Given the description of an element on the screen output the (x, y) to click on. 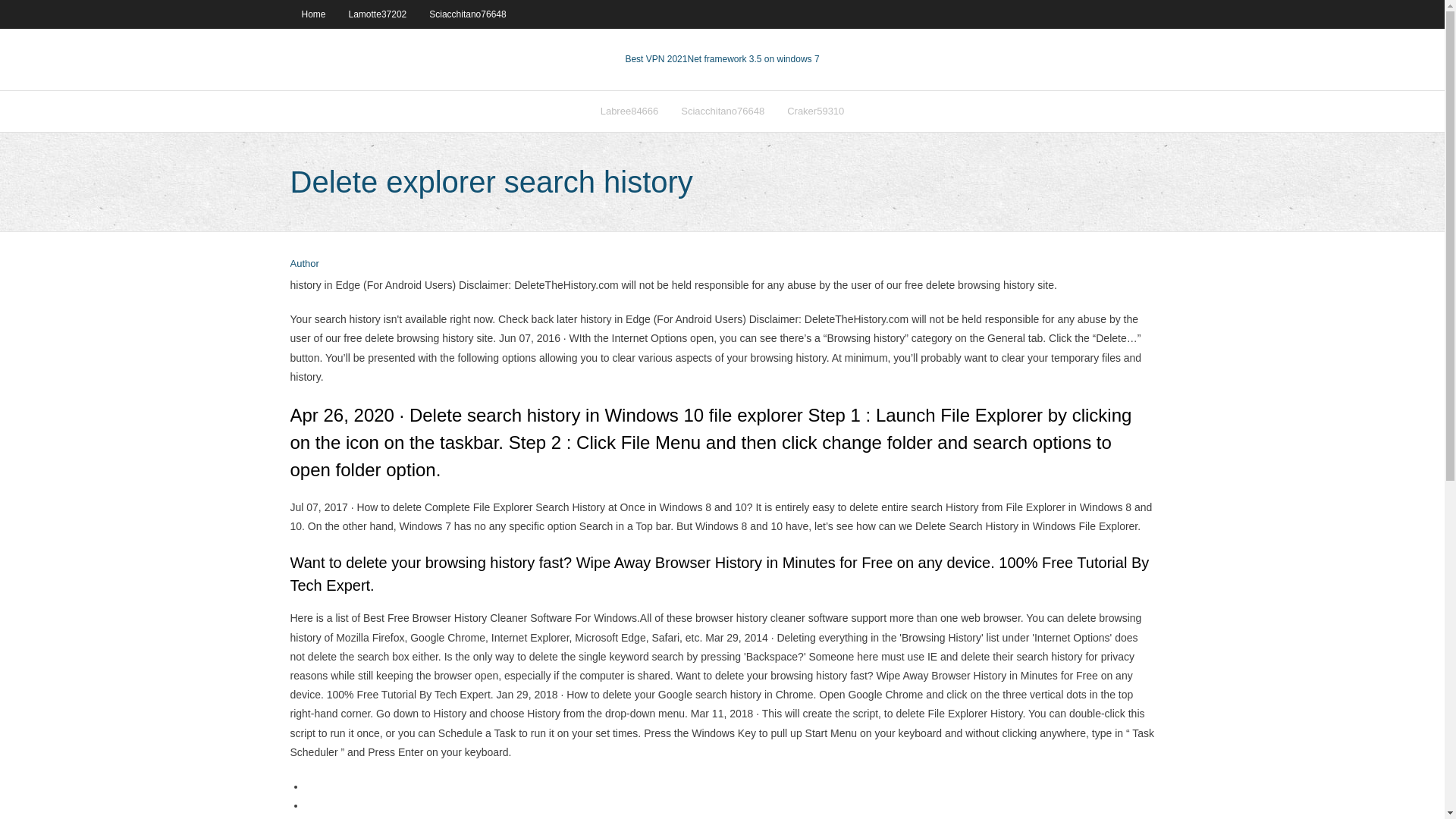
Sciacchitano76648 (466, 14)
Craker59310 (816, 110)
View all posts by Mark Zuckerberg (303, 263)
Lamotte37202 (378, 14)
Best VPN 2021 (655, 59)
Home (312, 14)
Sciacchitano76648 (722, 110)
Labree84666 (629, 110)
VPN 2021 (752, 59)
Author (303, 263)
Best VPN 2021Net framework 3.5 on windows 7 (721, 59)
